Given the description of an element on the screen output the (x, y) to click on. 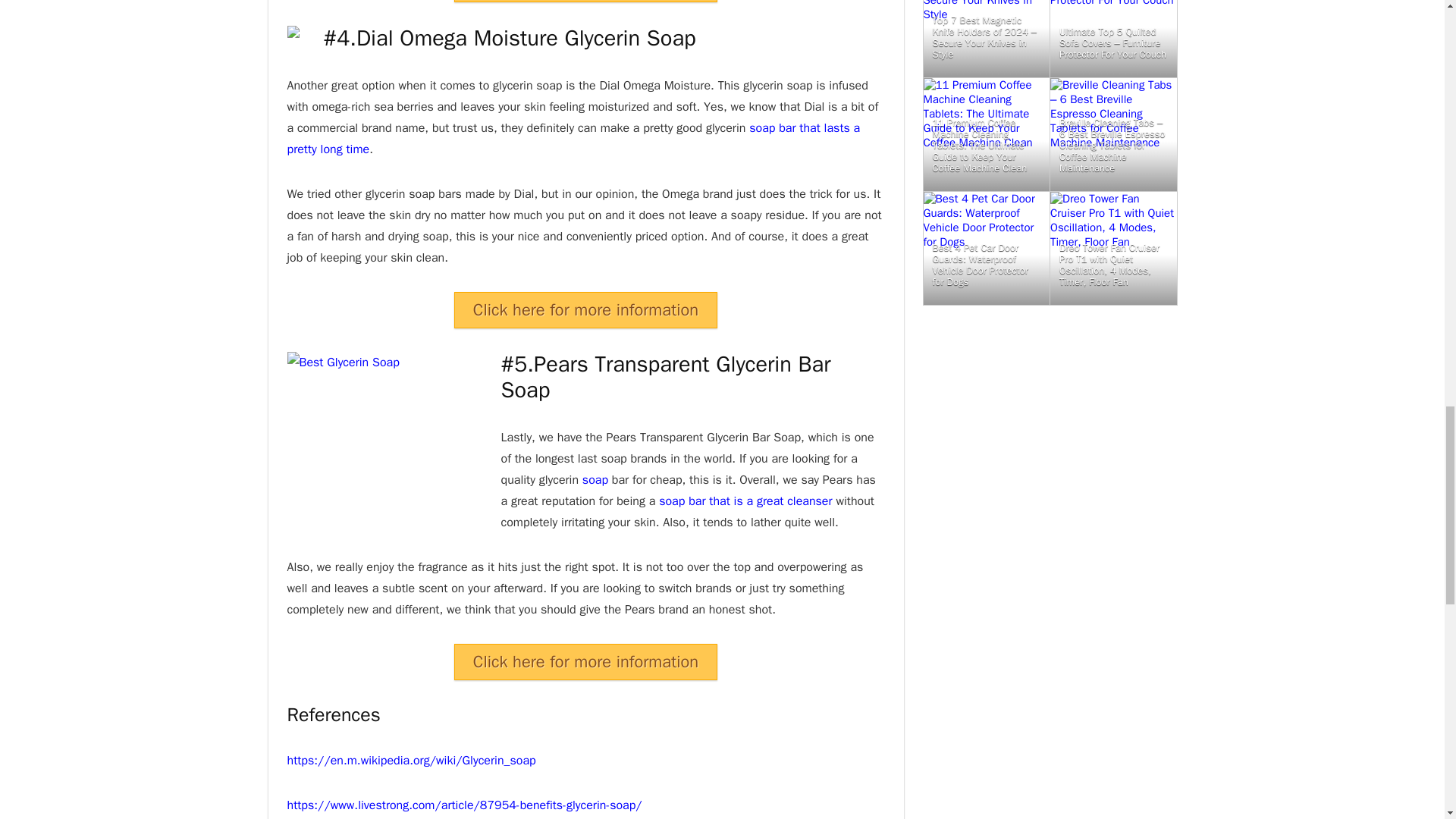
soap bar that is a great cleanser (745, 500)
Click here for more information (585, 309)
soap bar that lasts a pretty long time (573, 138)
soap (595, 479)
Click here for more information (585, 661)
